Given the description of an element on the screen output the (x, y) to click on. 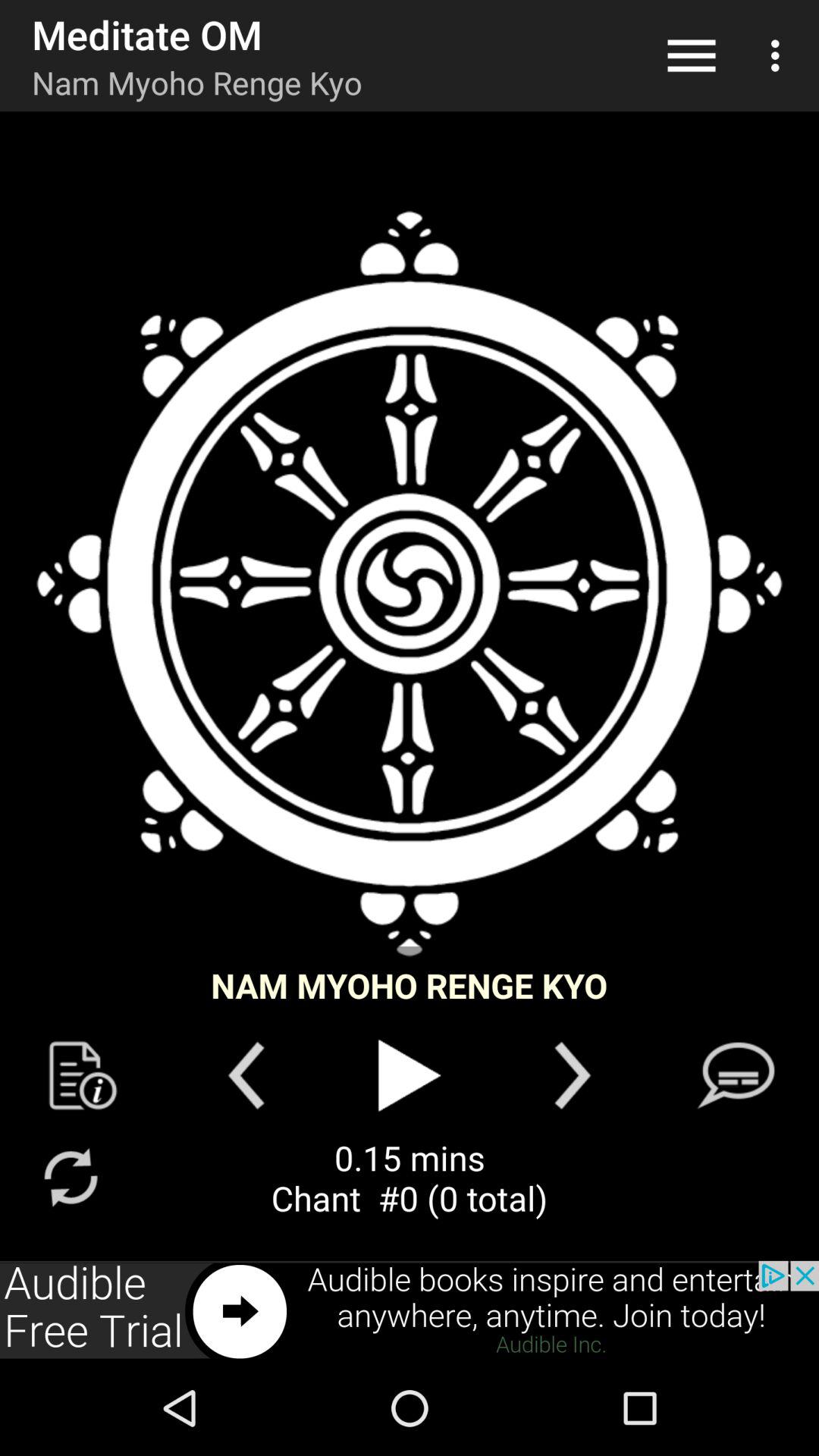
go to next (572, 1075)
